Given the description of an element on the screen output the (x, y) to click on. 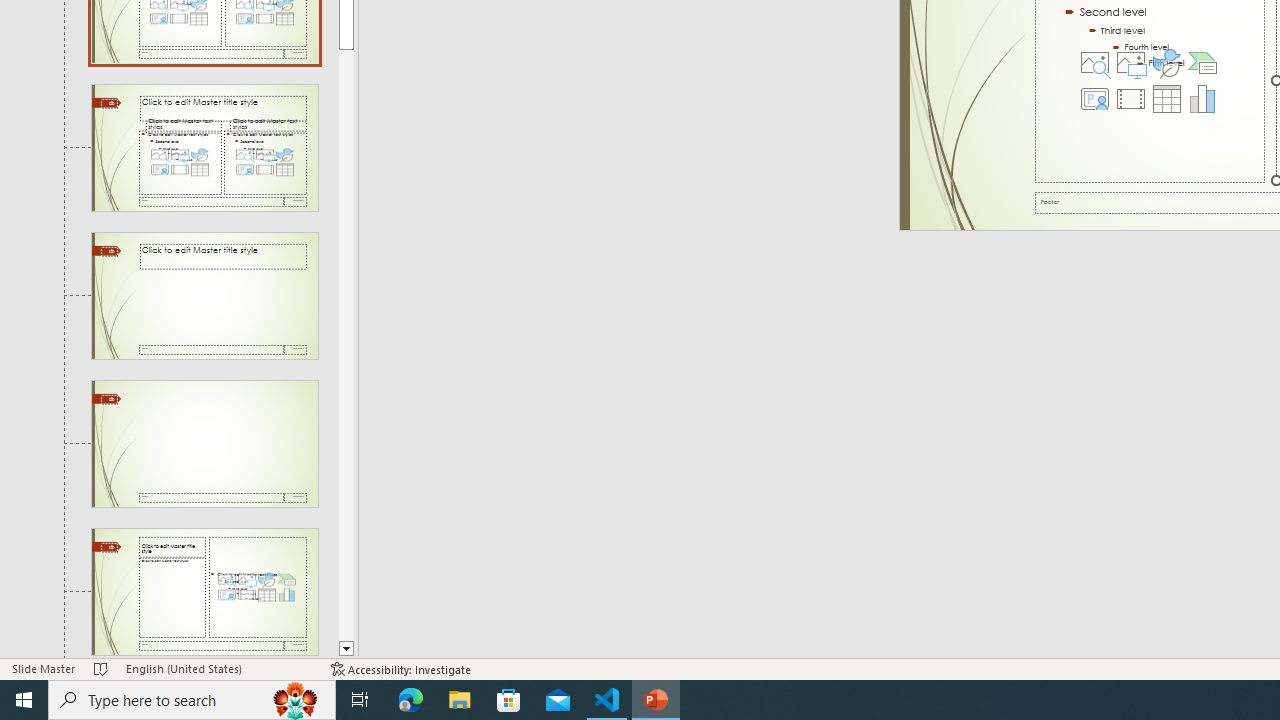
Slide Blank Layout: used by no slides (204, 592)
Stock Images (1095, 62)
Insert a SmartArt Graphic (1202, 62)
Insert Video (1130, 98)
Slide Two Content Layout: used by no slides (204, 147)
Slide Title Only Layout: used by no slides (204, 443)
Insert Cameo (1095, 98)
Slide Comparison Layout: used by no slides (204, 296)
Insert Table (1166, 98)
Insert Chart (1202, 98)
Insert an Icon (1166, 62)
